Given the description of an element on the screen output the (x, y) to click on. 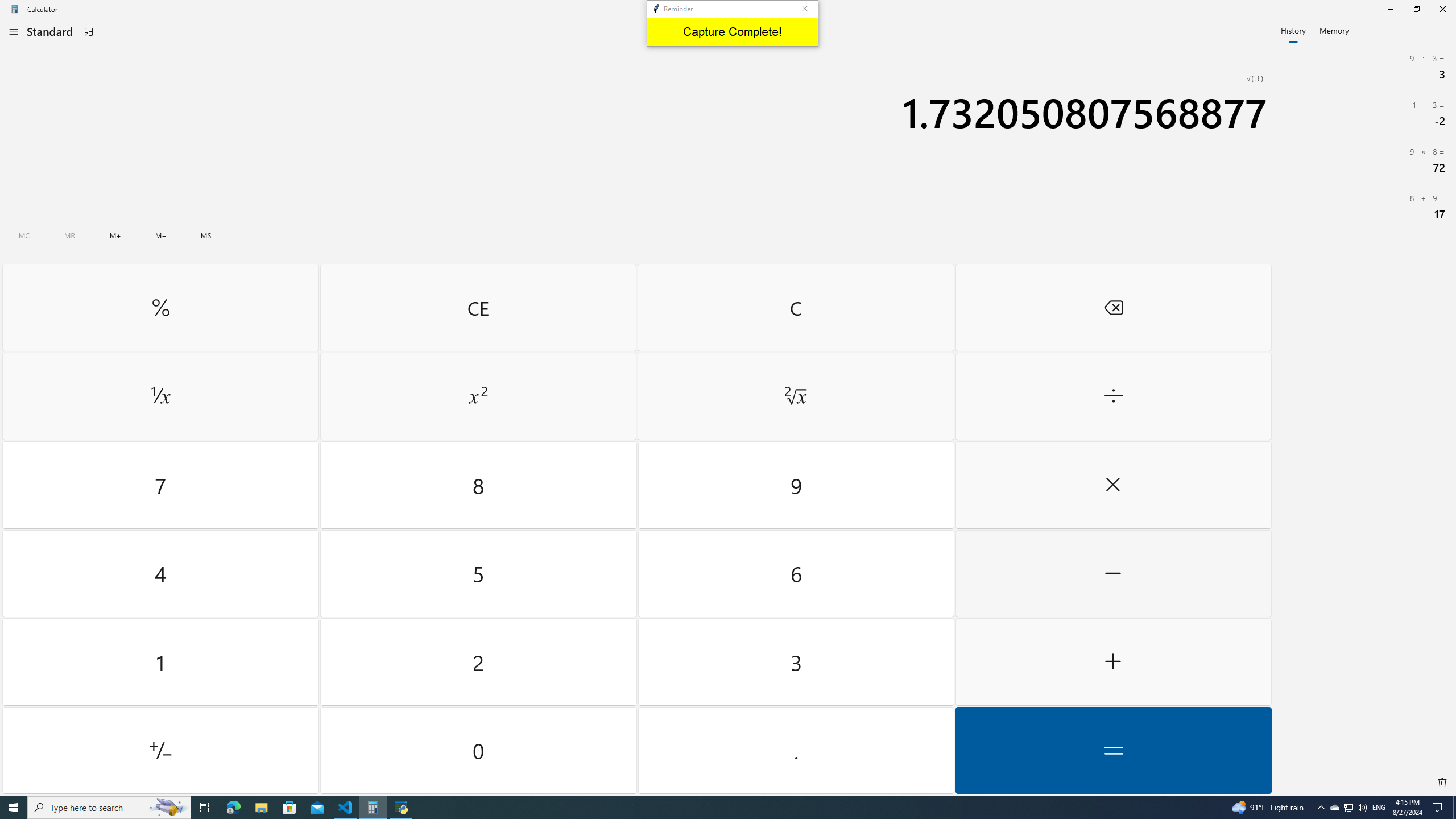
Four (160, 572)
Square root (795, 396)
Restore Calculator (1416, 9)
Two (478, 661)
Memory add (115, 235)
Percent (160, 307)
Close Calculator (1442, 9)
One (160, 661)
Clear all history (1441, 782)
Multiply by (1113, 485)
